Given the description of an element on the screen output the (x, y) to click on. 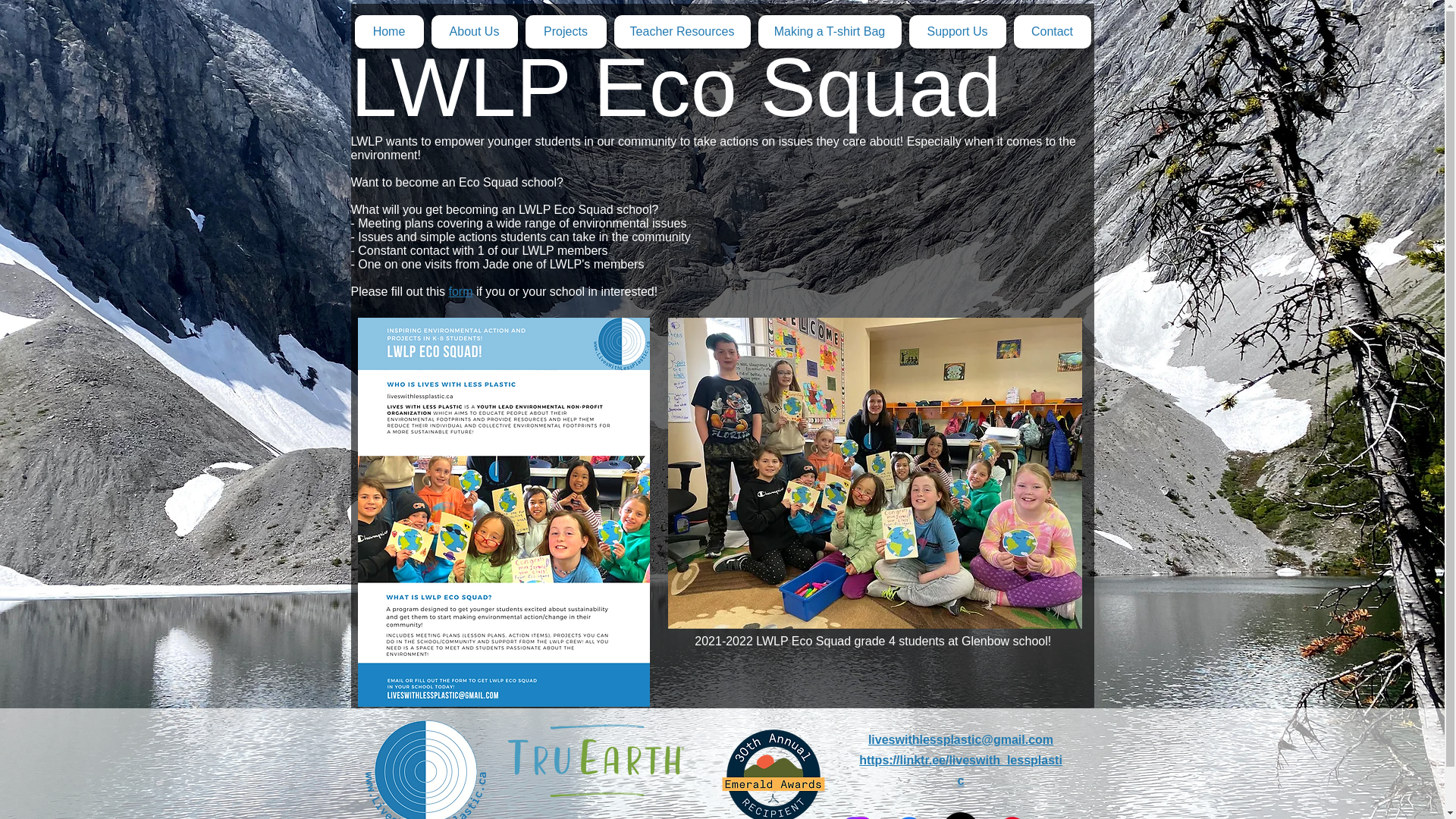
Making a T-shirt Bag (829, 31)
Support Us (957, 31)
Contact (1051, 31)
Home (389, 31)
About Us (473, 31)
form (459, 291)
